Given the description of an element on the screen output the (x, y) to click on. 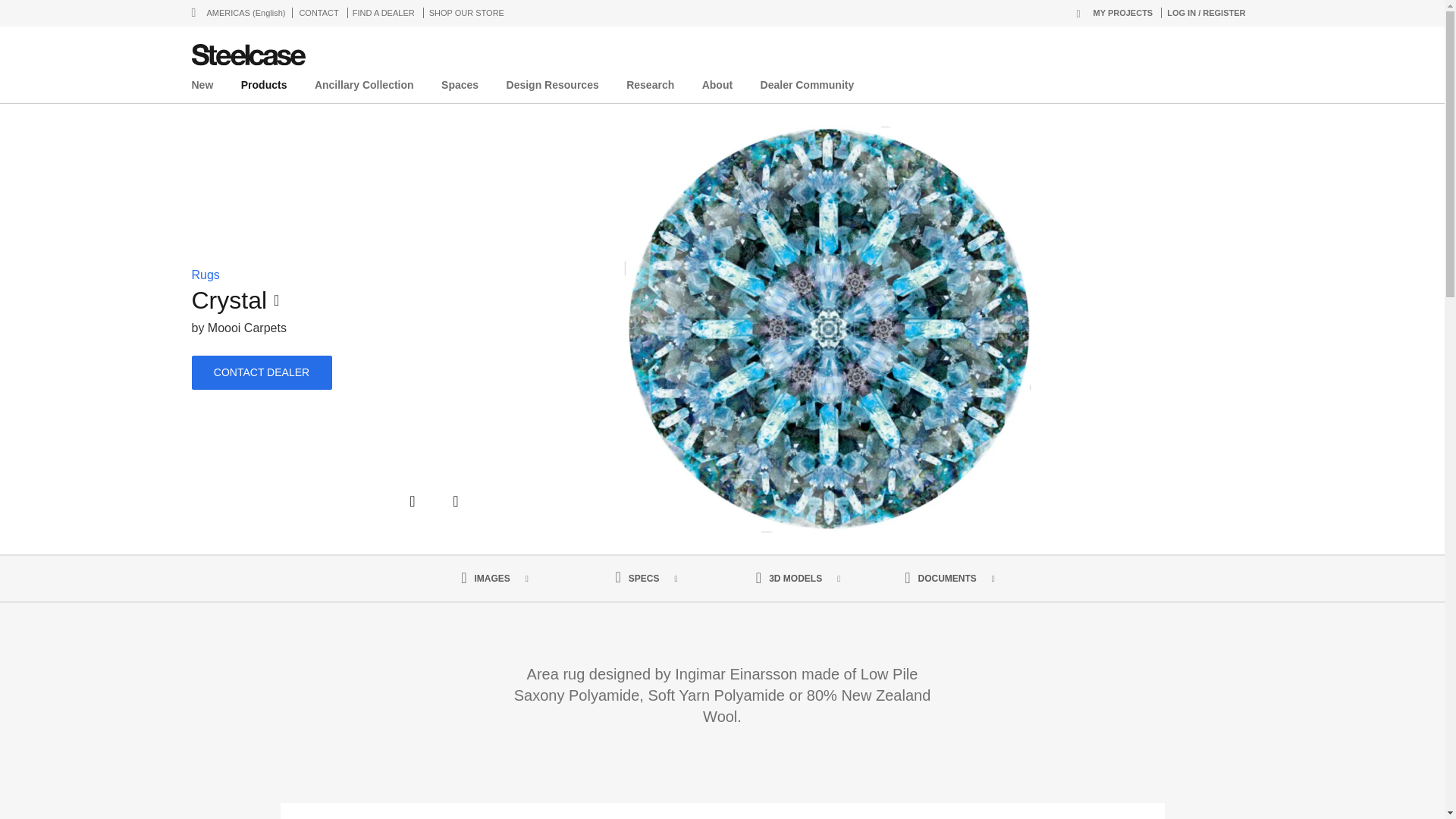
Ancillary Collection (364, 87)
New (202, 87)
FIND A DEALER (384, 12)
CONTACT (318, 12)
Products (263, 87)
MY PROJECTS (1115, 12)
SHOP OUR STORE (467, 12)
